Given the description of an element on the screen output the (x, y) to click on. 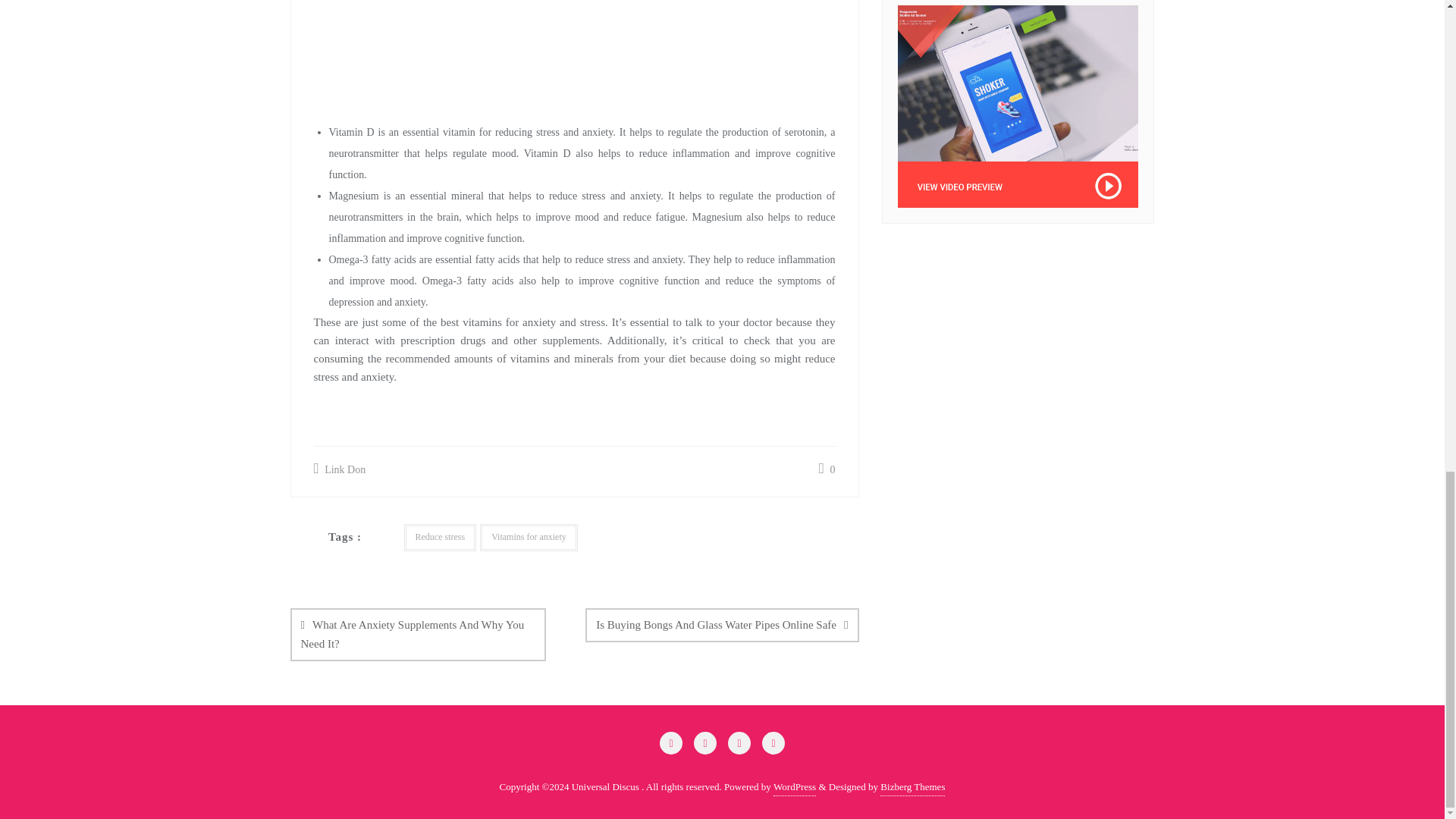
Is Buying Bongs And Glass Water Pipes Online Safe (722, 625)
What Are Anxiety Supplements And Why You Need It? (417, 634)
Link Don (340, 469)
WordPress (794, 787)
Reduce stress (439, 537)
Bizberg Themes (912, 787)
Vitamins for anxiety (529, 537)
